Given the description of an element on the screen output the (x, y) to click on. 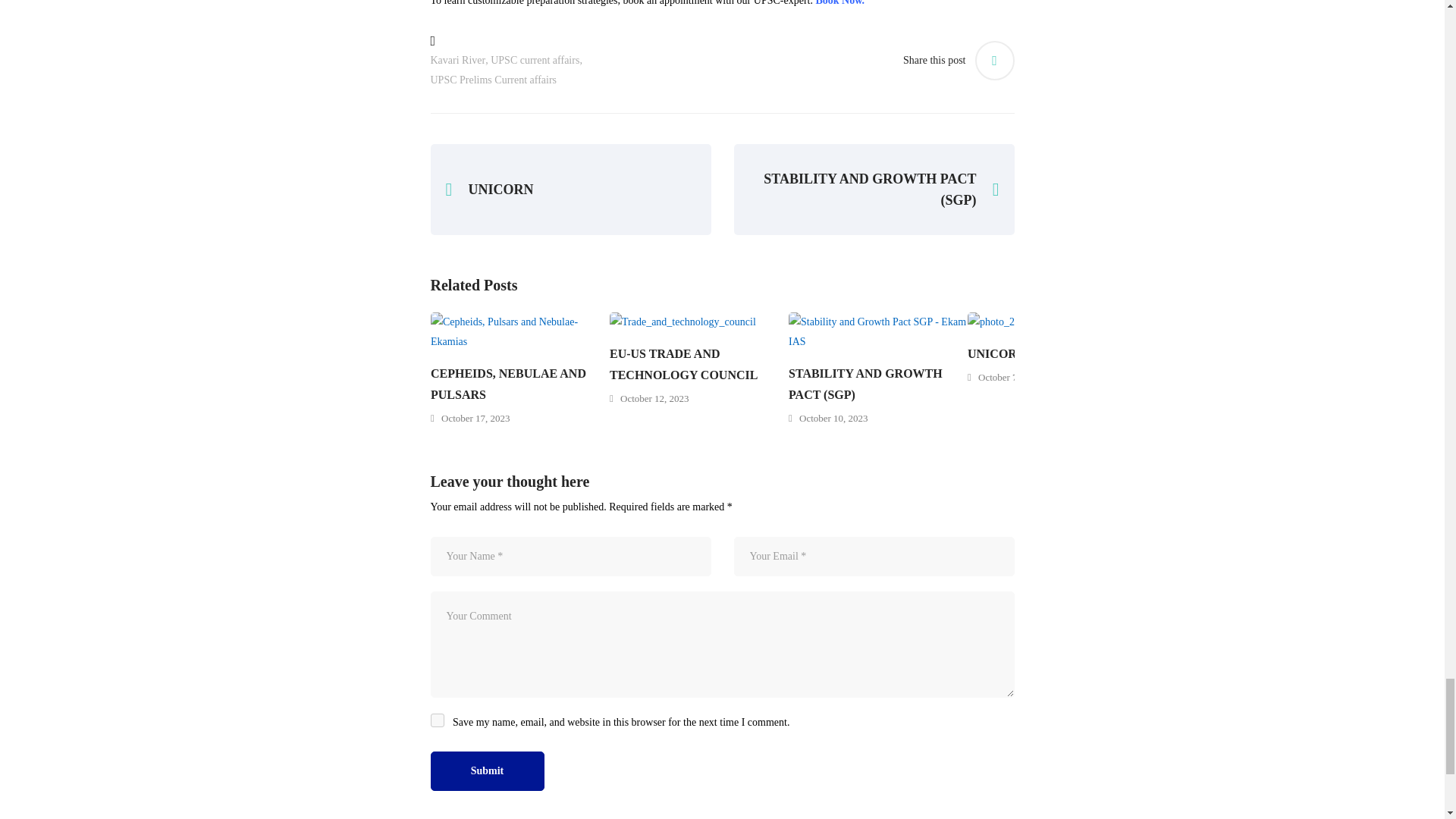
Book Now. (839, 2)
UPSC Prelims Current affairs (493, 80)
UPSC current affairs (534, 60)
CEPHEIDS, NEBULAE AND PULSARS (520, 384)
Kavari River (458, 60)
UNICORN (570, 189)
Submit (487, 771)
yes (437, 720)
EU-US TRADE AND TECHNOLOGY COUNCIL (699, 364)
